Given the description of an element on the screen output the (x, y) to click on. 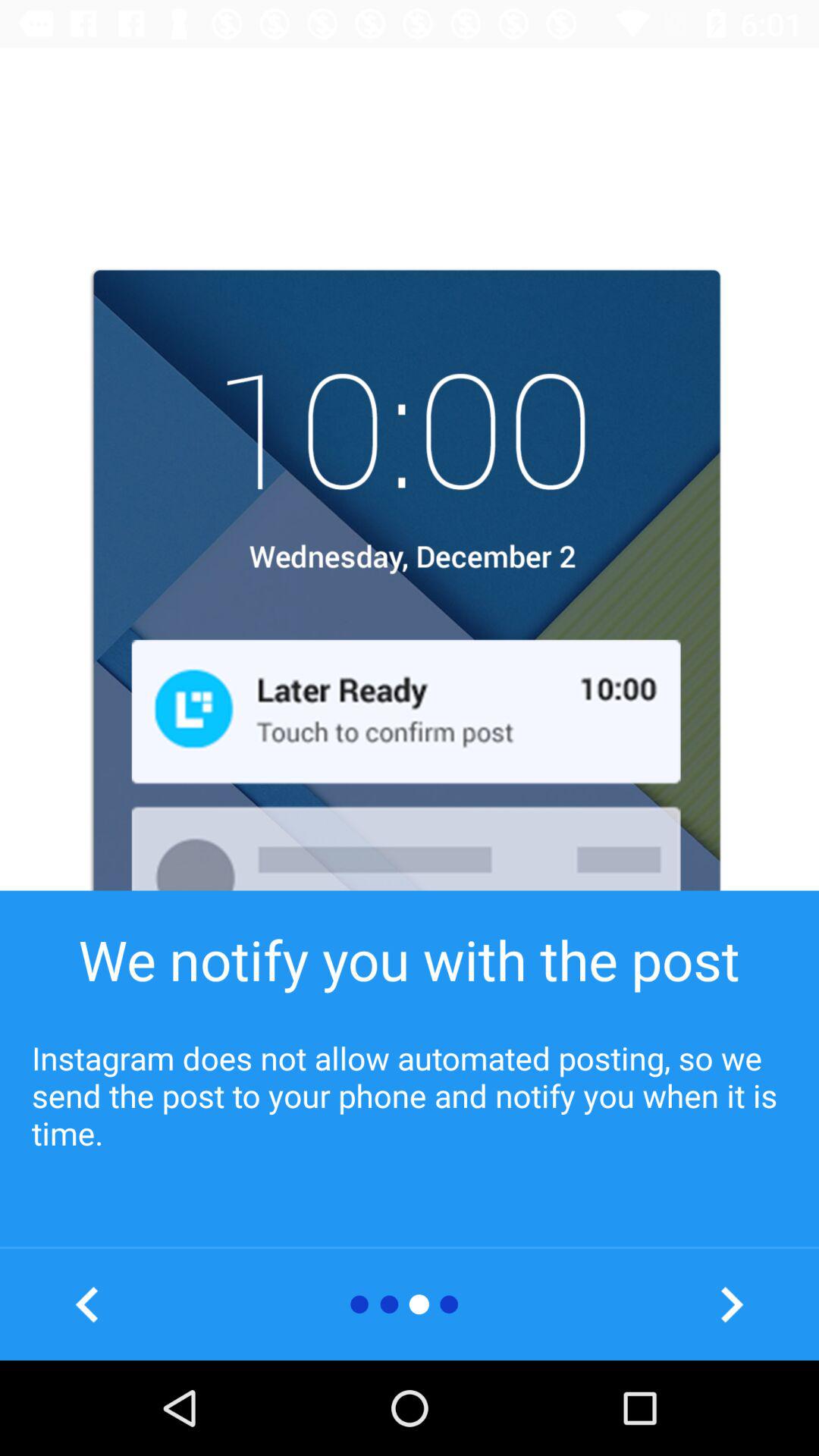
go to next page (731, 1304)
